Given the description of an element on the screen output the (x, y) to click on. 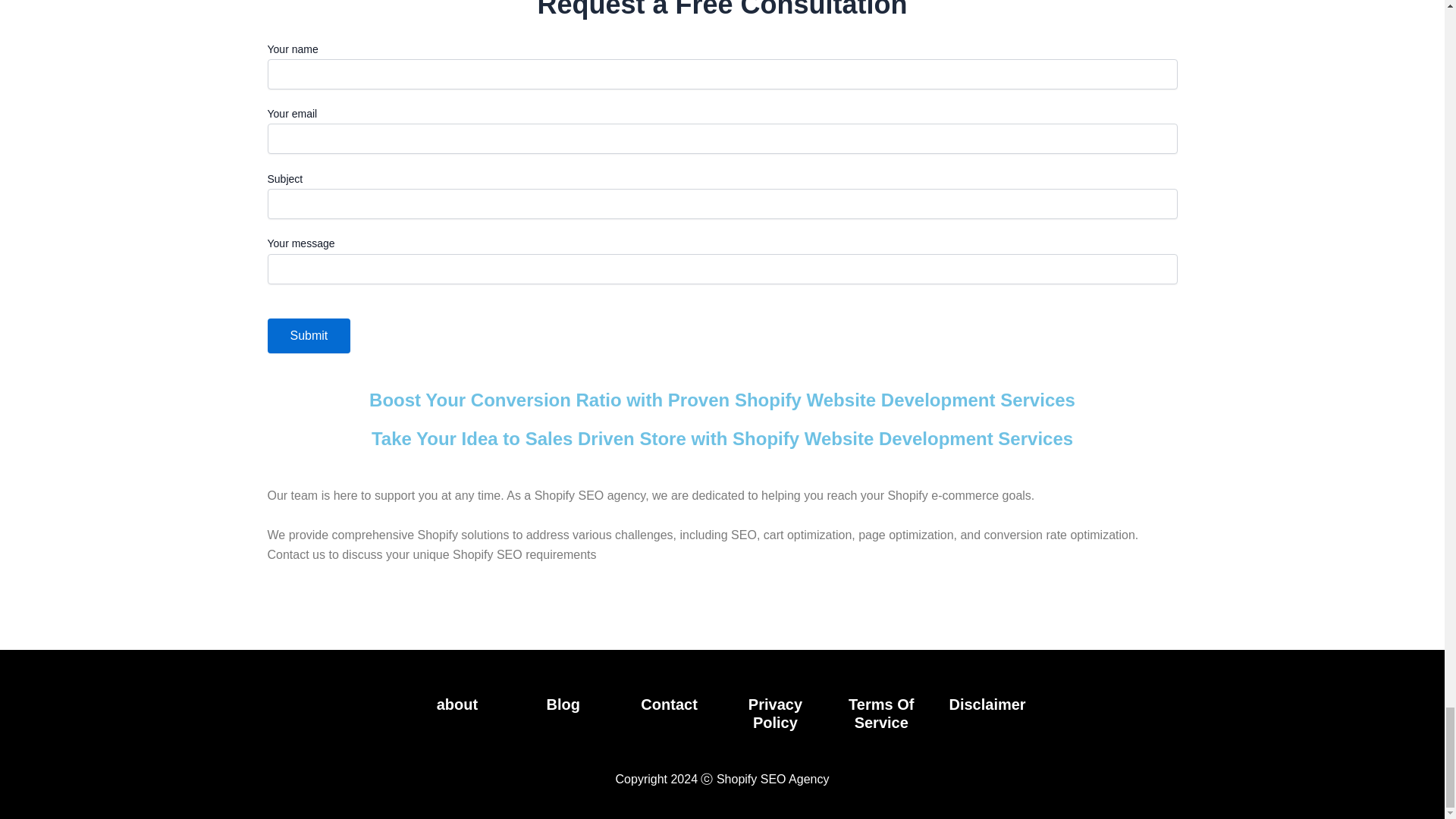
about (456, 704)
Submit (308, 335)
Submit (308, 335)
